Given the description of an element on the screen output the (x, y) to click on. 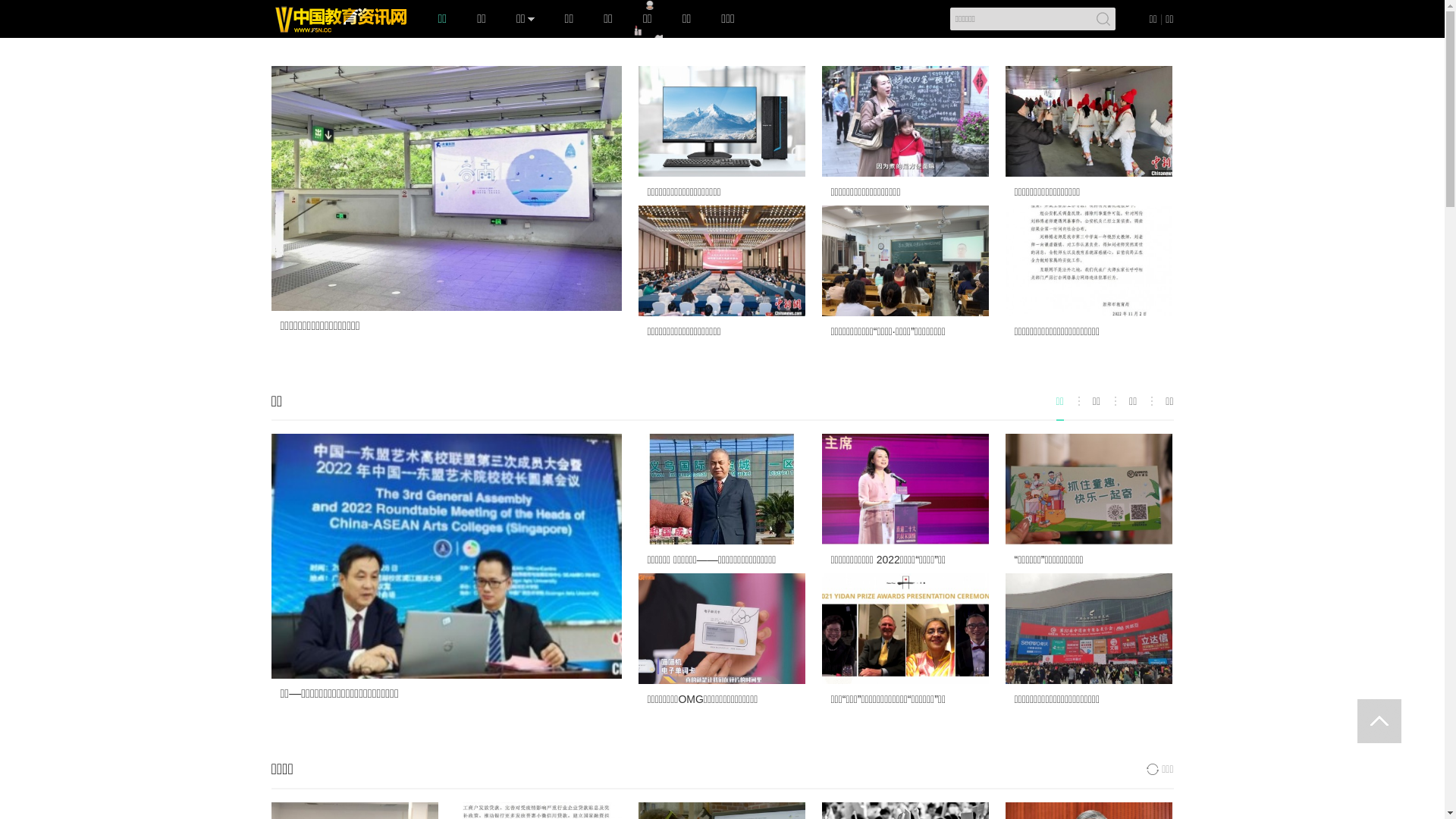
  Element type: text (1379, 721)
